Given the description of an element on the screen output the (x, y) to click on. 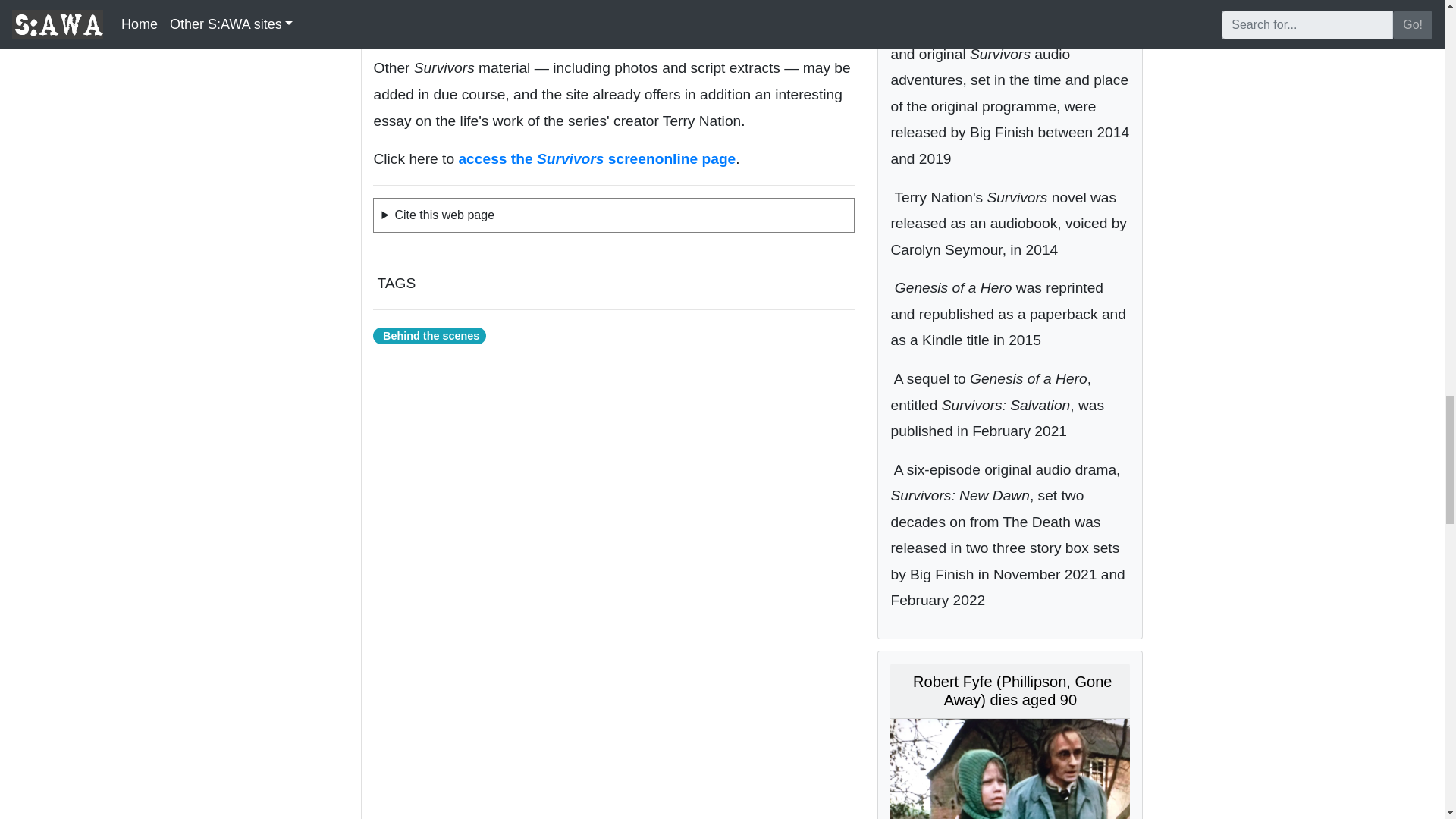
access the Survivors screenonline page (596, 158)
 Behind the scenes (428, 334)
